Given the description of an element on the screen output the (x, y) to click on. 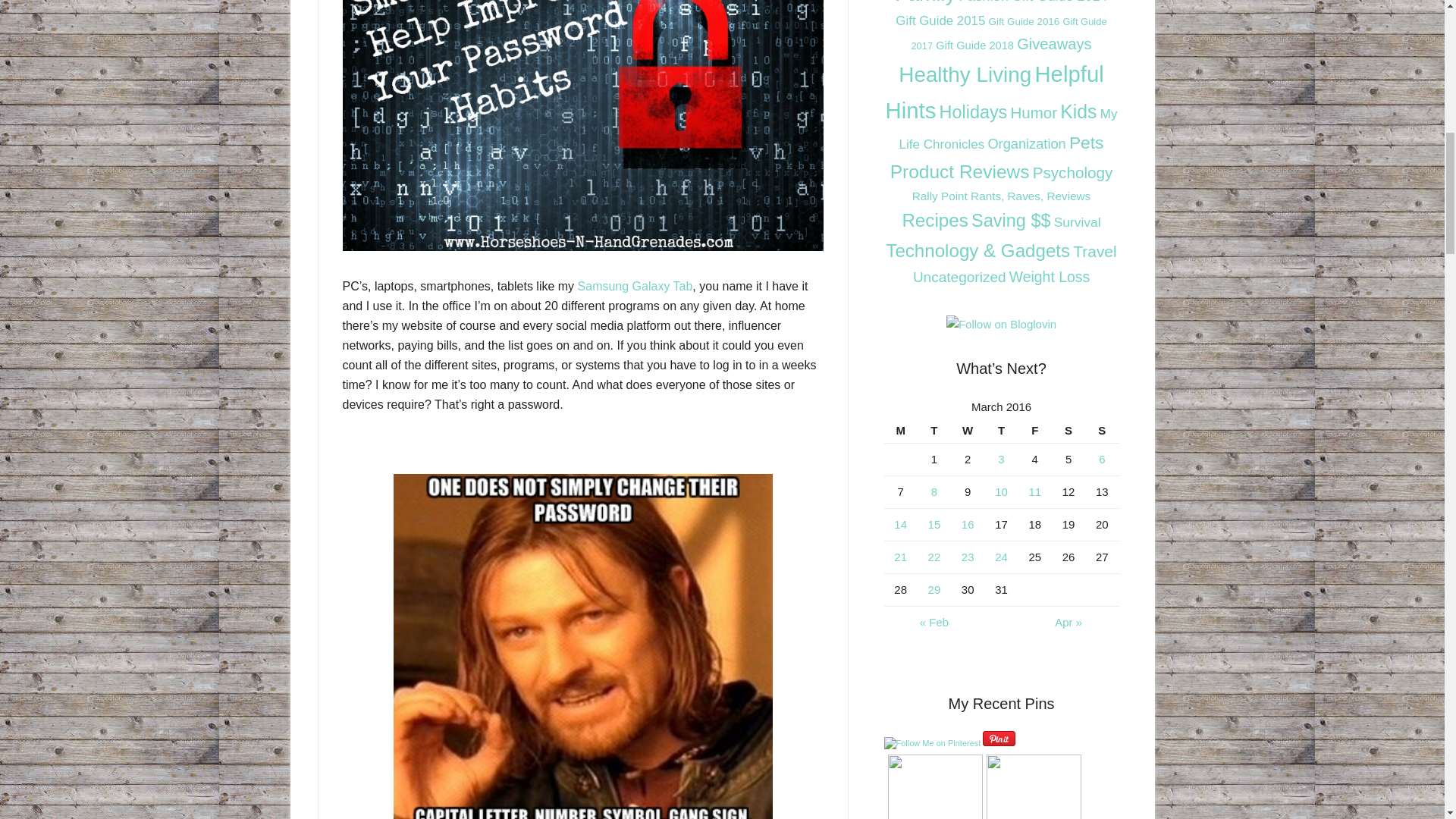
Sunday (1101, 430)
Monday (900, 430)
Thursday (1000, 430)
Tuesday (933, 430)
Friday (1034, 430)
Saturday (1067, 430)
Wednesday (967, 430)
Samsung Galaxy Tab (635, 286)
